Given the description of an element on the screen output the (x, y) to click on. 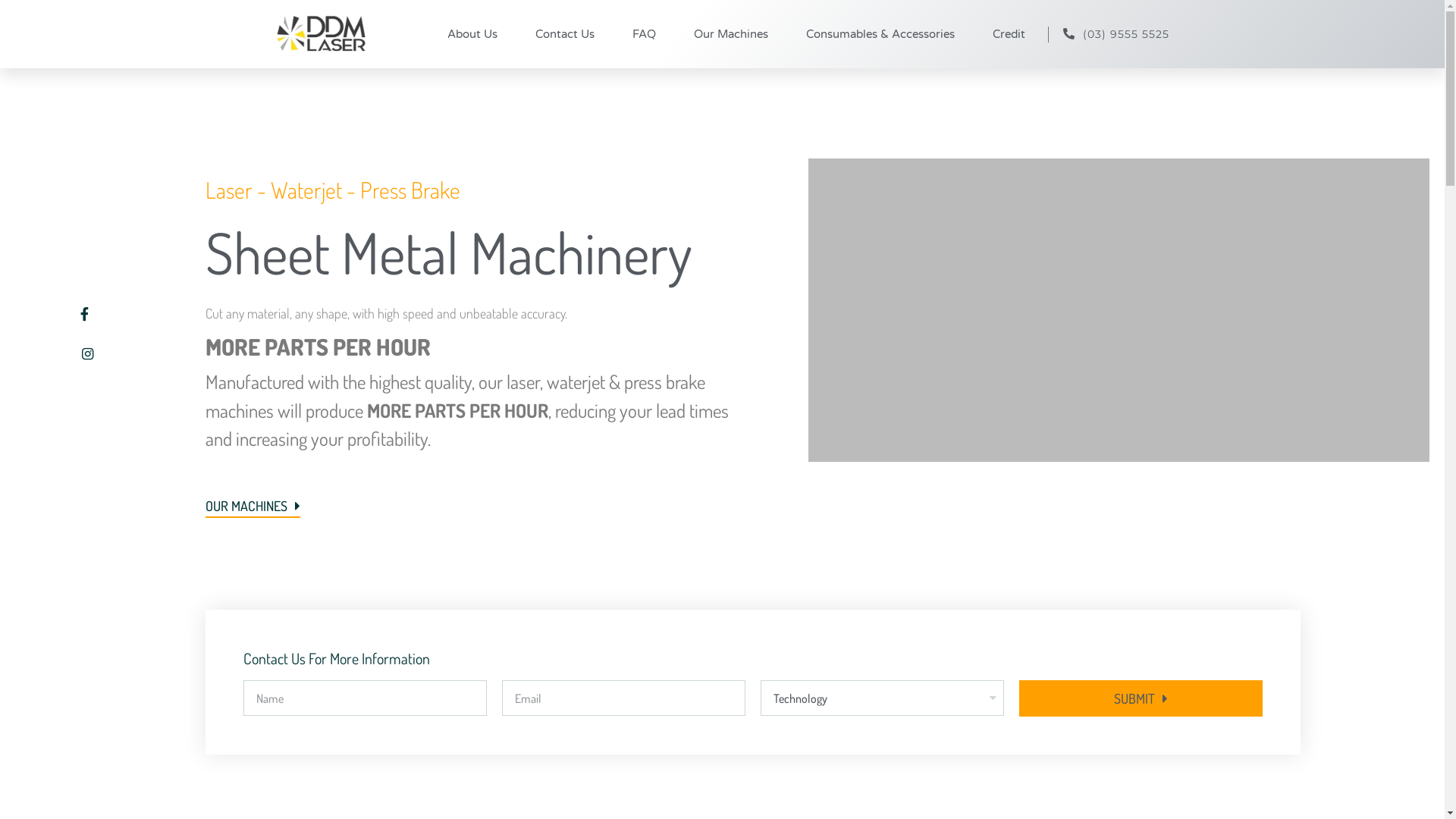
Credit Element type: text (1008, 34)
OUR MACHINES Element type: text (251, 507)
Consumables & Accessories Element type: text (880, 34)
Contact Us Element type: text (564, 34)
Our Machines Element type: text (730, 34)
FAQ Element type: text (643, 34)
SUBMIT Element type: text (1140, 698)
About Us Element type: text (472, 34)
